Given the description of an element on the screen output the (x, y) to click on. 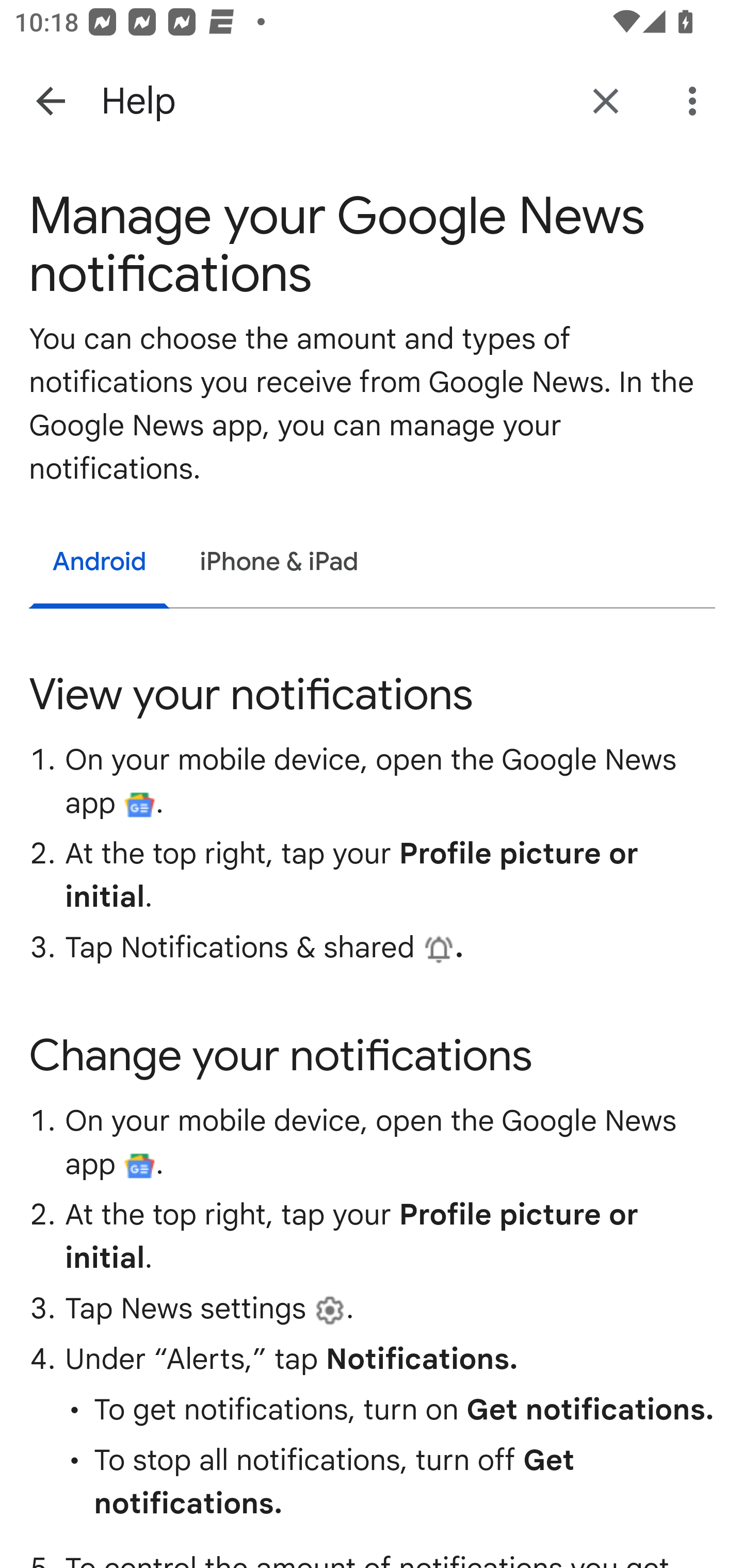
Navigate up (50, 101)
Return to Google News (605, 101)
More options (696, 101)
Android (99, 564)
iPhone & iPad (278, 563)
